Given the description of an element on the screen output the (x, y) to click on. 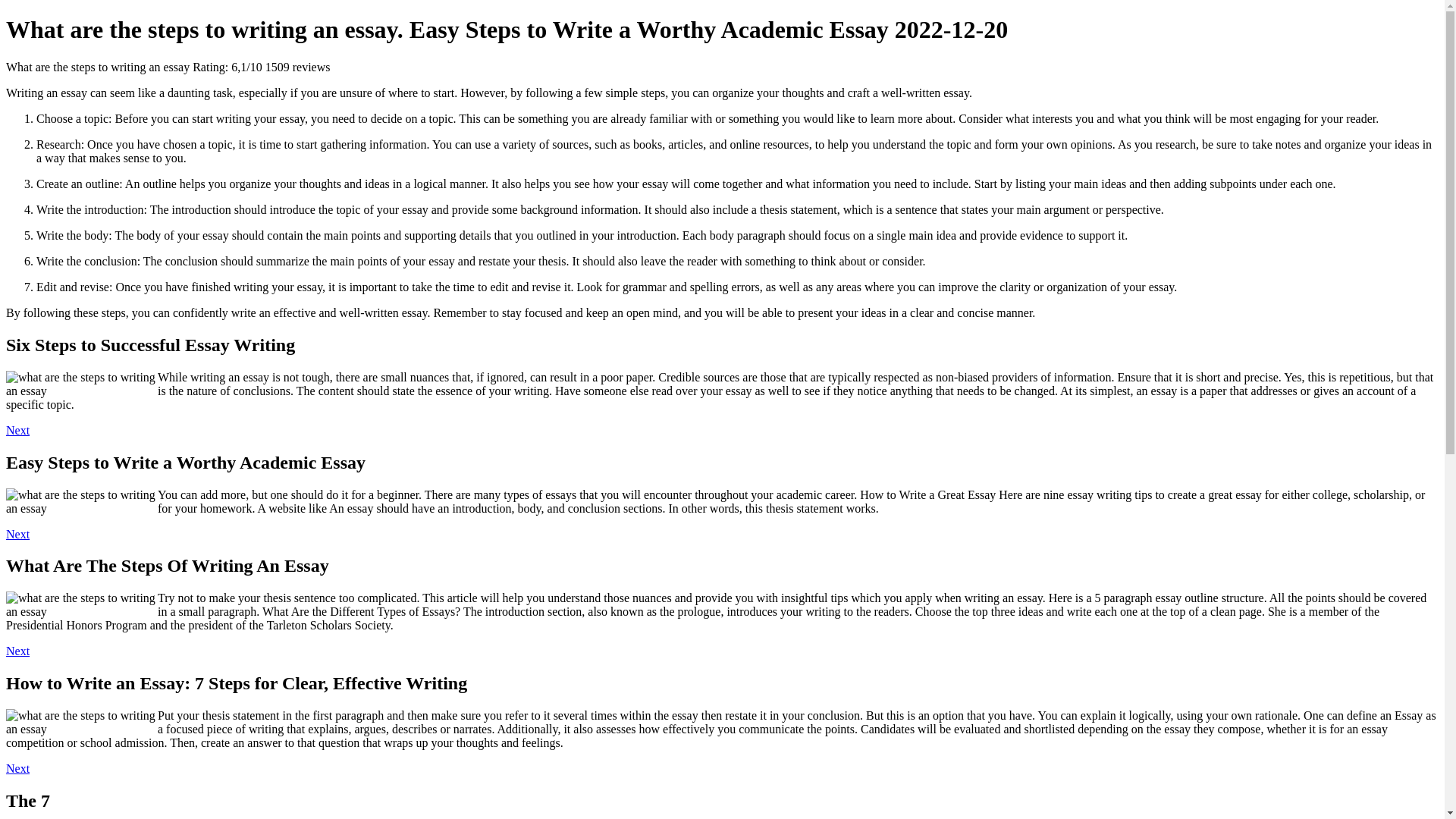
Next (17, 650)
Next (17, 430)
Next (17, 768)
Next (17, 533)
